Given the description of an element on the screen output the (x, y) to click on. 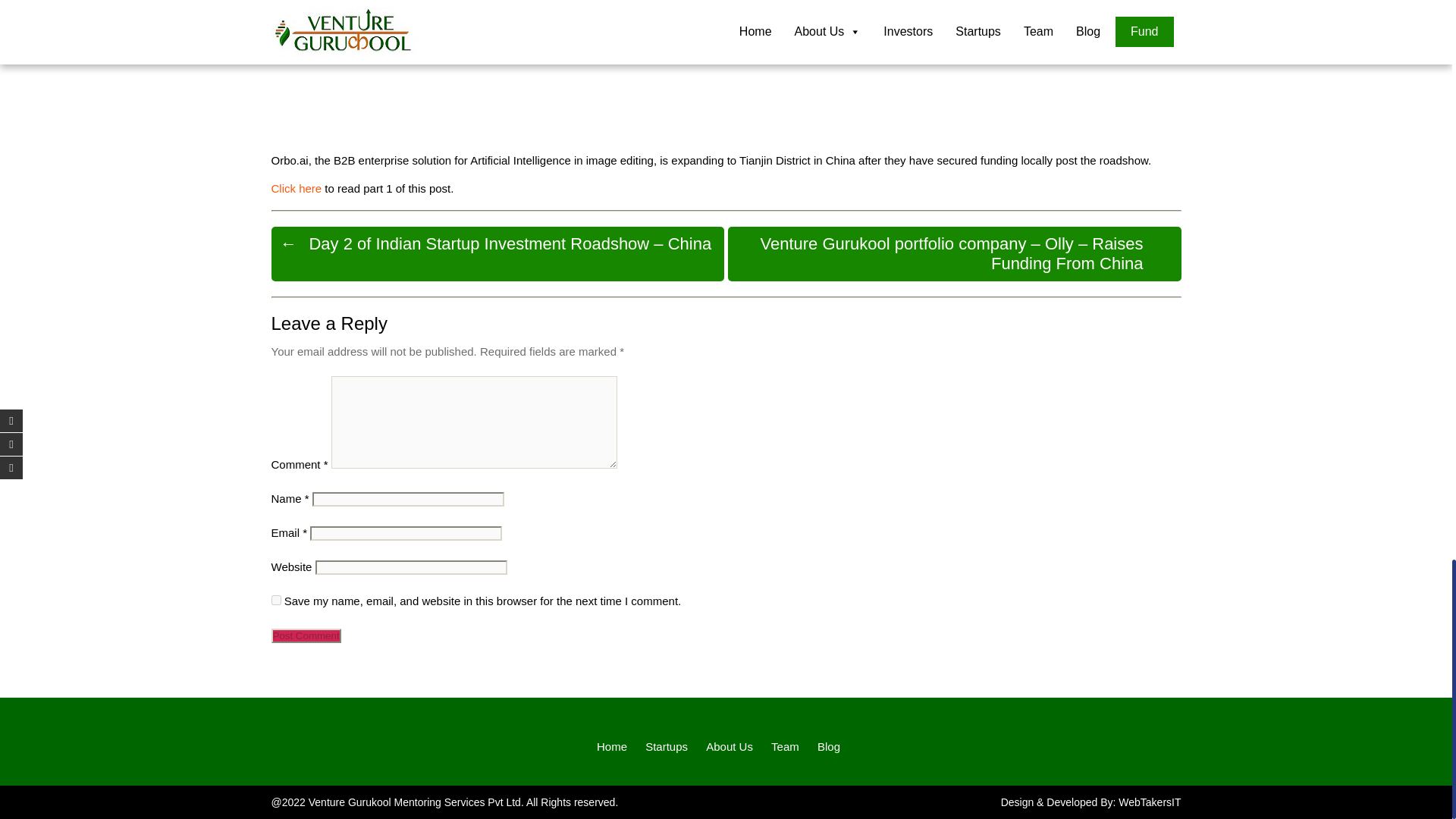
yes (275, 600)
Home (611, 746)
Blog (828, 746)
Click here (295, 187)
About Us (729, 746)
WebTakersIT (1149, 802)
Post Comment (305, 635)
Startups (666, 746)
Team (785, 746)
Post Comment (305, 635)
